Given the description of an element on the screen output the (x, y) to click on. 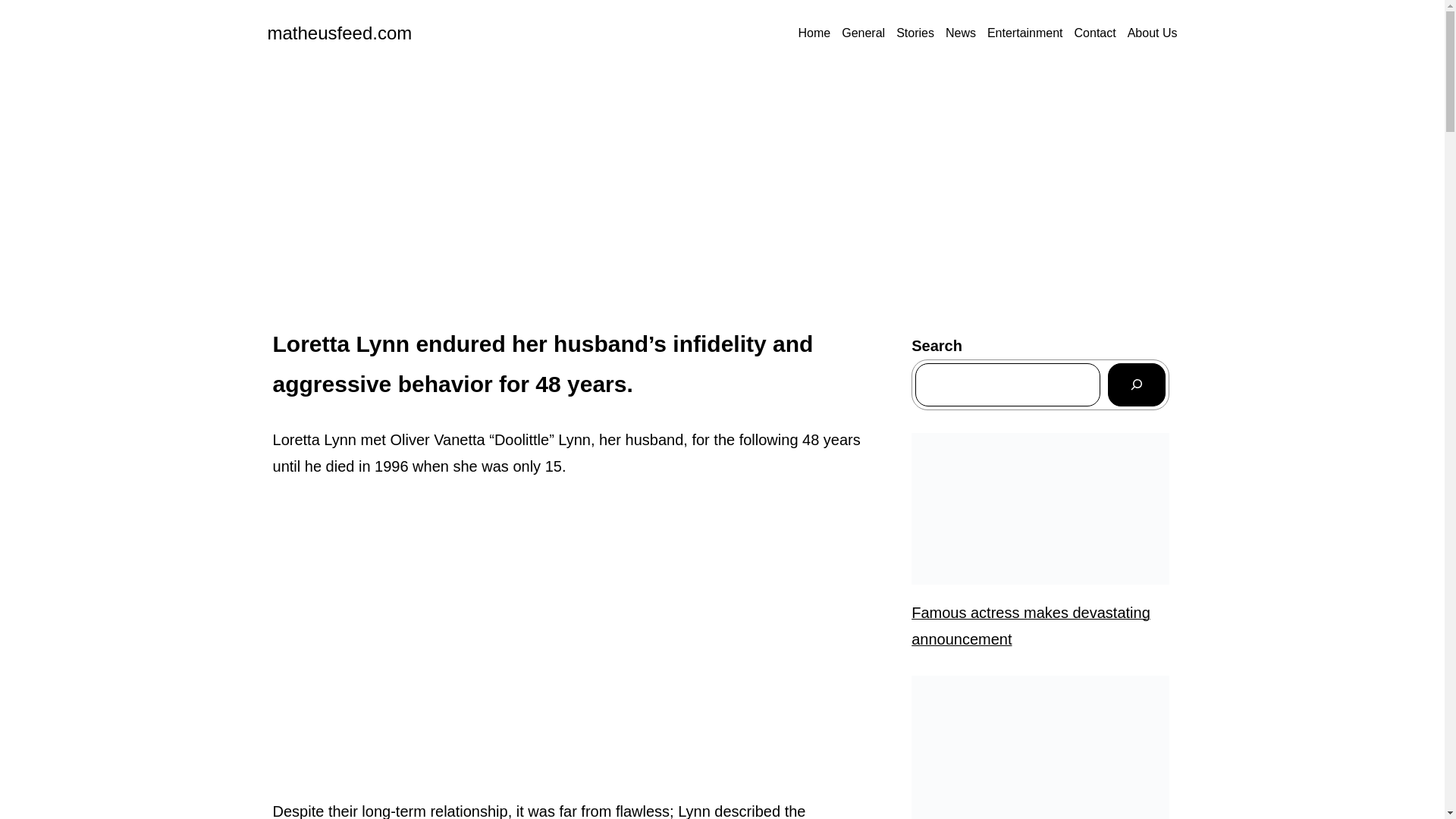
Stories (915, 33)
Entertainment (1024, 33)
Contact (1095, 33)
Famous actress makes devastating announcement (1040, 625)
Home (814, 33)
News (959, 33)
General (863, 33)
matheusfeed.com (339, 32)
About Us (1151, 33)
